Given the description of an element on the screen output the (x, y) to click on. 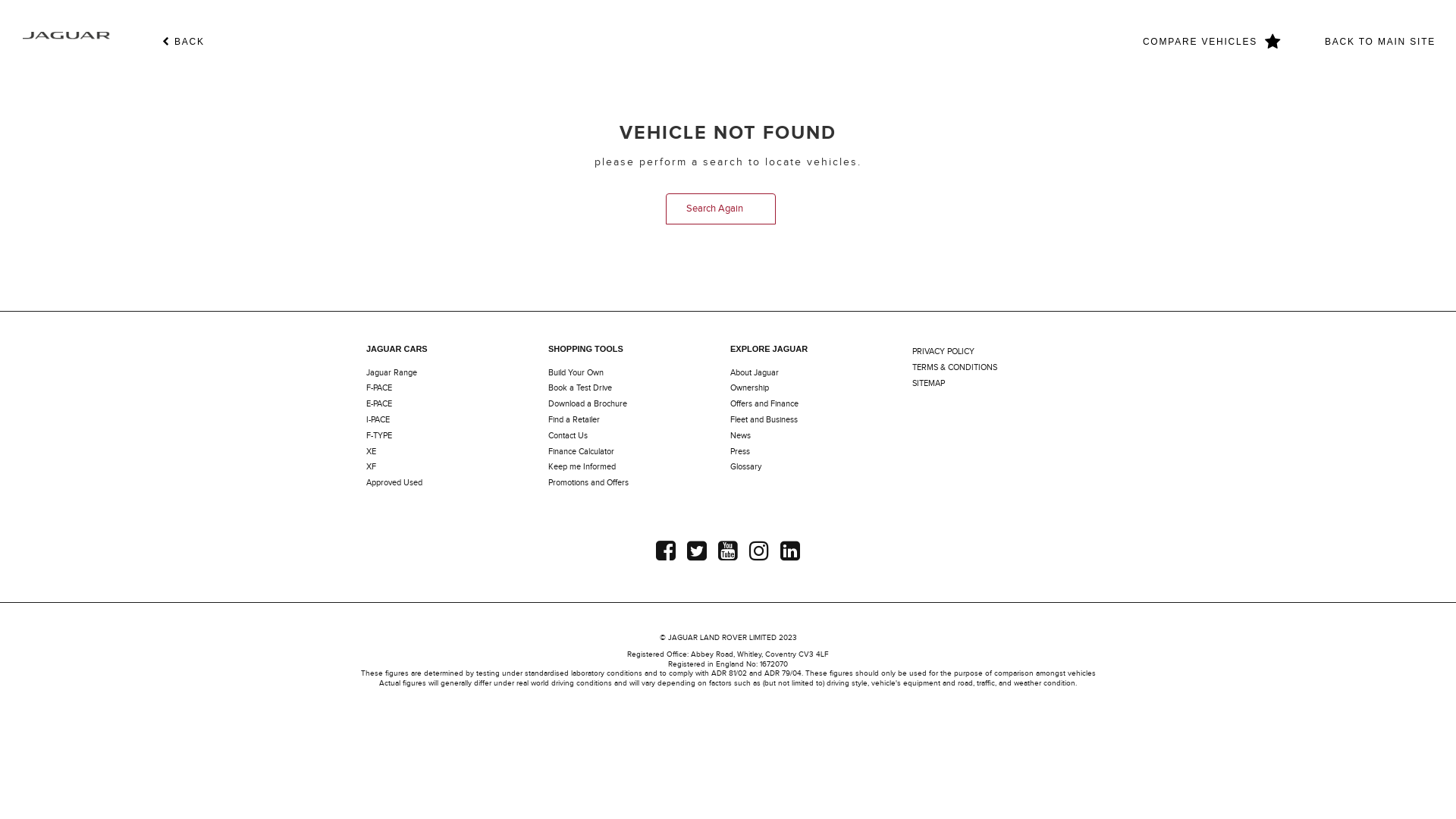
News Element type: text (740, 435)
Press Element type: text (739, 451)
Promotions and Offers Element type: text (588, 482)
Approved Used Element type: text (394, 482)
Offers and Finance Element type: text (764, 403)
Ownership Element type: text (749, 387)
SITEMAP Element type: text (928, 383)
TERMS & CONDITIONS Element type: text (954, 367)
Contact Us Element type: text (567, 435)
Jaguar Range Element type: text (391, 372)
XE Element type: text (371, 451)
Search Again Element type: text (720, 208)
PRIVACY POLICY Element type: text (943, 351)
Find a Retailer Element type: text (573, 419)
F-TYPE Element type: text (379, 435)
Fleet and Business Element type: text (763, 419)
Download a Brochure Element type: text (587, 403)
Book a Test Drive Element type: text (579, 387)
BACK TO MAIN SITE Element type: text (1379, 39)
COMPARE VEHICLES Element type: text (1212, 41)
About Jaguar Element type: text (754, 372)
I-PACE Element type: text (377, 419)
XF Element type: text (371, 466)
Finance Calculator Element type: text (581, 451)
BACK Element type: text (183, 41)
Keep me Informed Element type: text (581, 466)
F-PACE Element type: text (379, 387)
Build Your Own Element type: text (575, 372)
E-PACE Element type: text (379, 403)
Glossary Element type: text (745, 466)
